Given the description of an element on the screen output the (x, y) to click on. 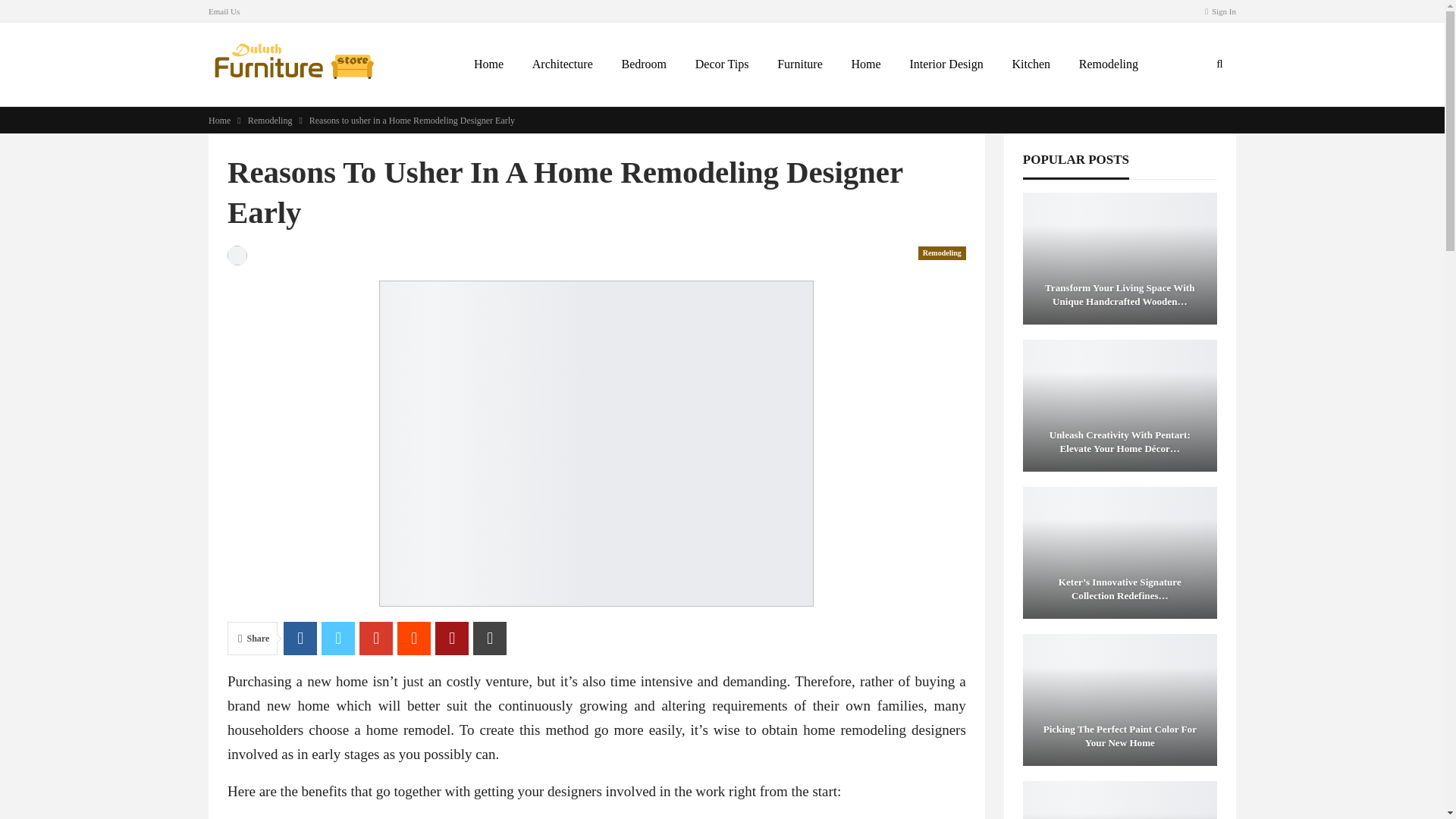
Sign In (1220, 11)
Interior Design (945, 64)
Home (219, 120)
Remodeling (942, 253)
Email Us (224, 10)
Browse Author Articles (237, 254)
Architecture (562, 64)
Remodeling (1108, 64)
Remodeling (269, 120)
